Given the description of an element on the screen output the (x, y) to click on. 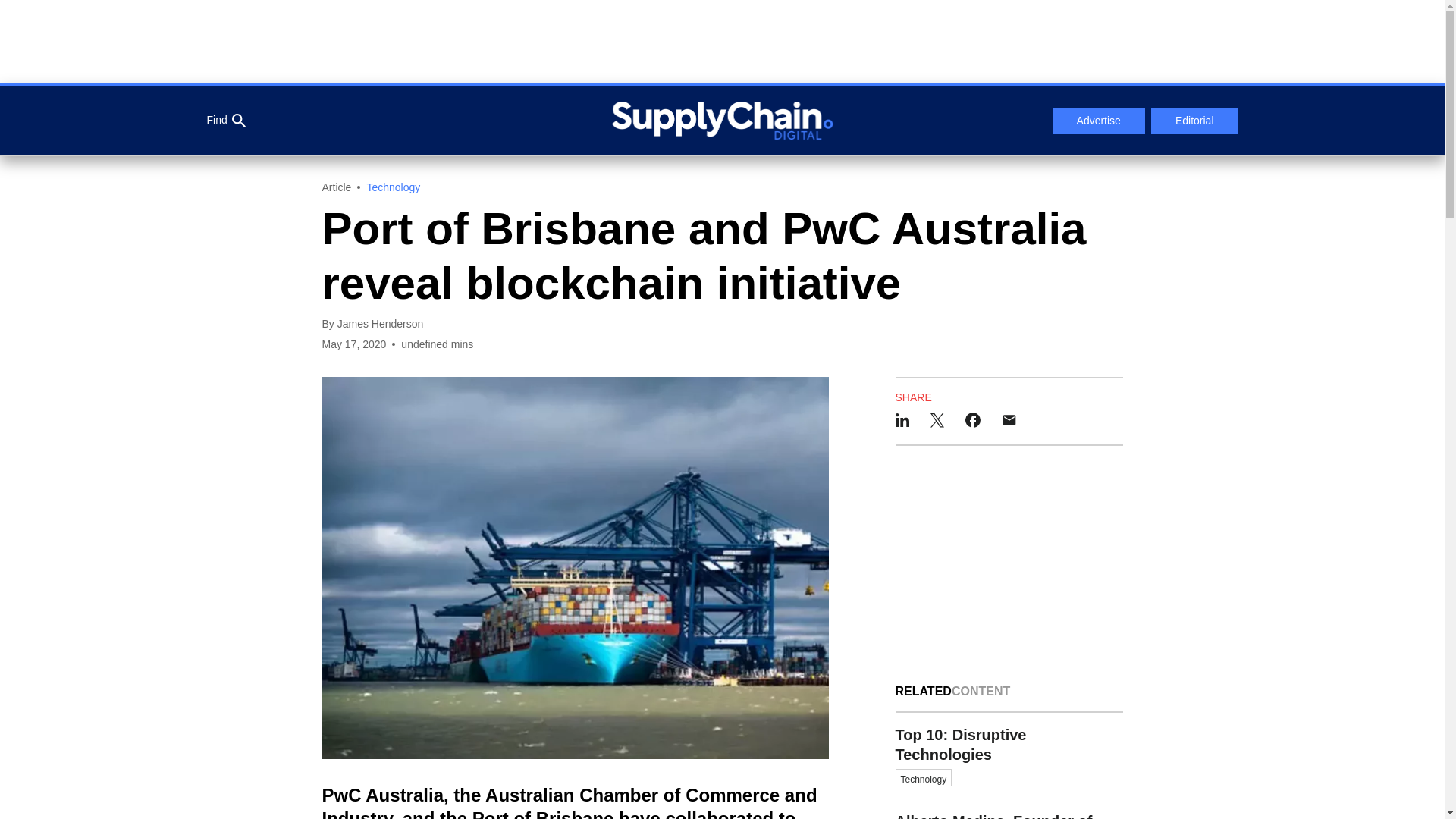
Find (225, 120)
Advertise (1098, 121)
Editorial (1195, 121)
